Given the description of an element on the screen output the (x, y) to click on. 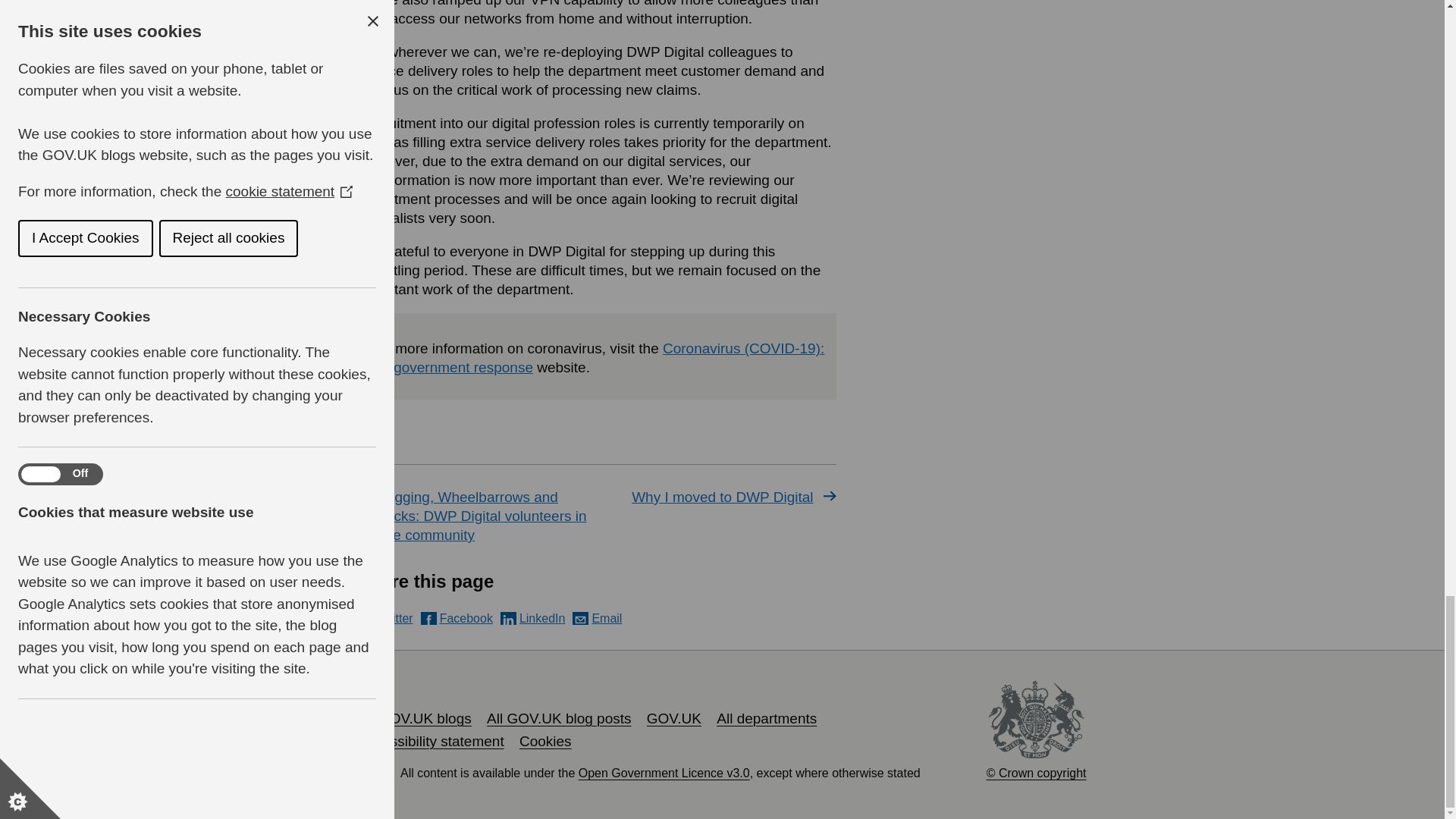
Twitter (385, 617)
Facebook (456, 617)
All departments (766, 718)
Email (596, 617)
All GOV.UK blog posts (558, 718)
LinkedIn (533, 617)
Why I moved to DWP Digital (718, 496)
GOV.UK (673, 718)
All GOV.UK blogs (414, 718)
Accessibility statement (430, 741)
